Given the description of an element on the screen output the (x, y) to click on. 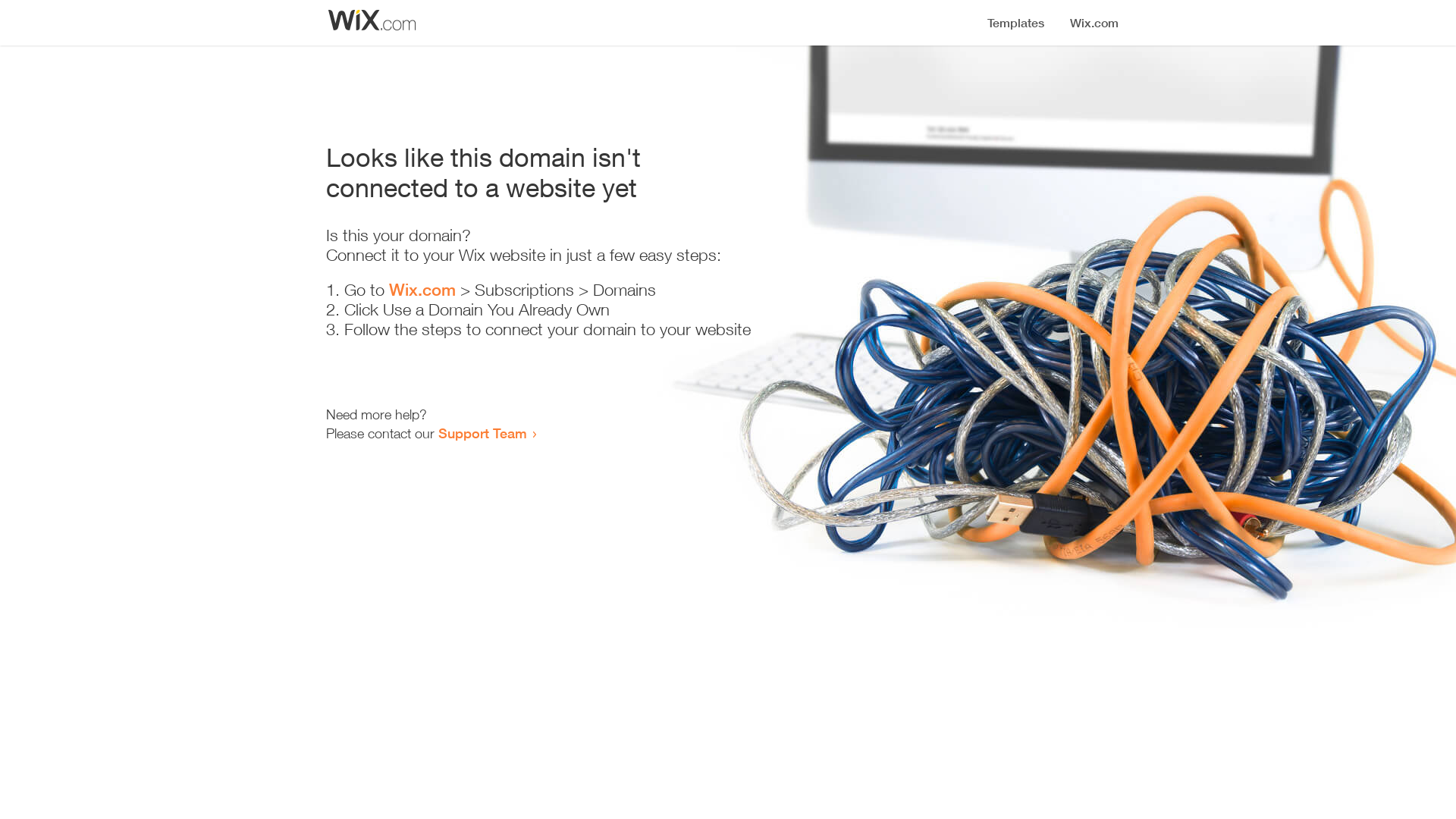
Support Team Element type: text (482, 432)
Wix.com Element type: text (422, 289)
